Given the description of an element on the screen output the (x, y) to click on. 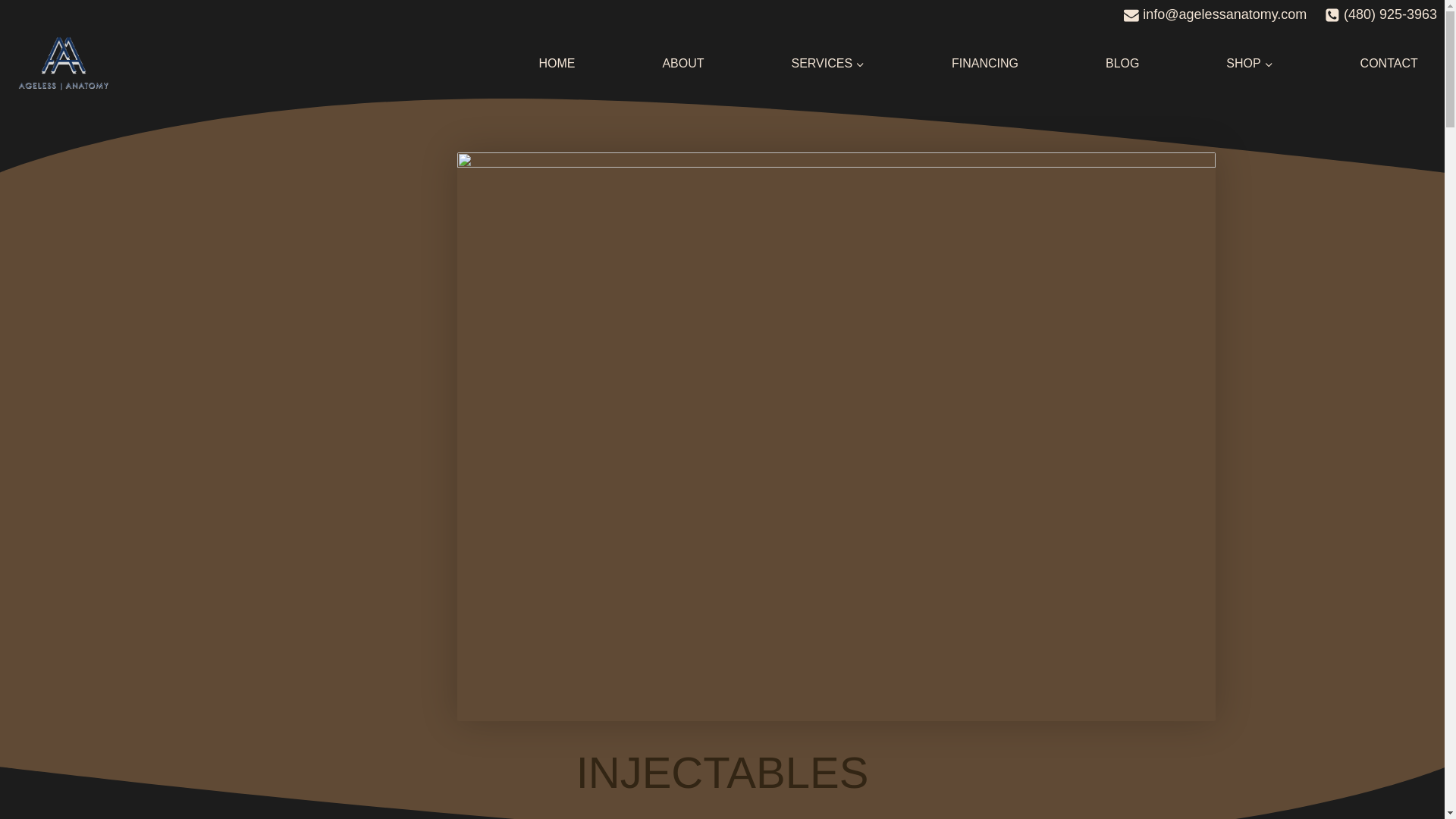
FINANCING (984, 62)
ABOUT (683, 62)
HOME (556, 62)
SHOP (1249, 62)
BLOG (1122, 62)
SERVICES (827, 62)
